Given the description of an element on the screen output the (x, y) to click on. 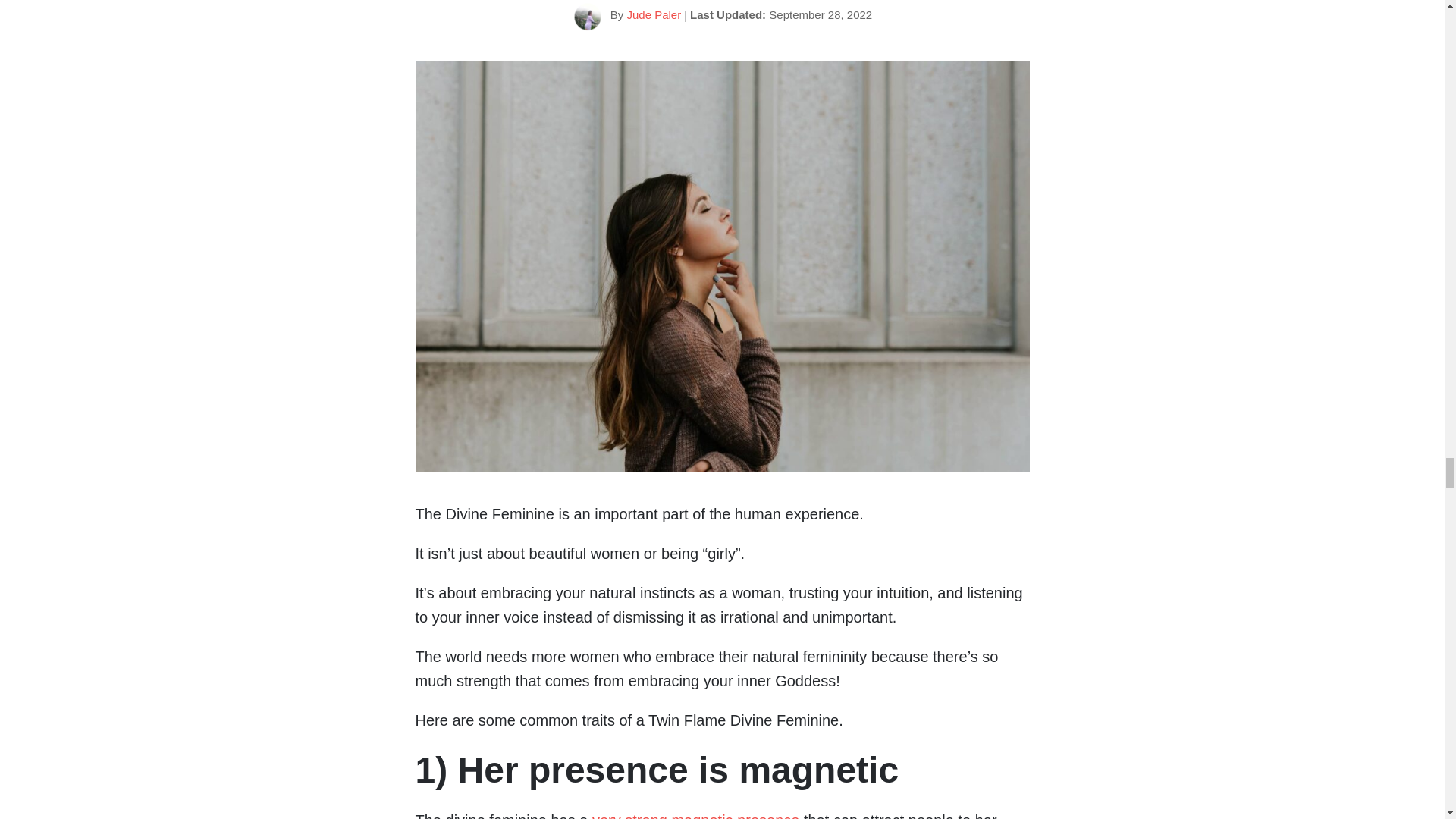
View all posts by Jude Paler (653, 14)
